Given the description of an element on the screen output the (x, y) to click on. 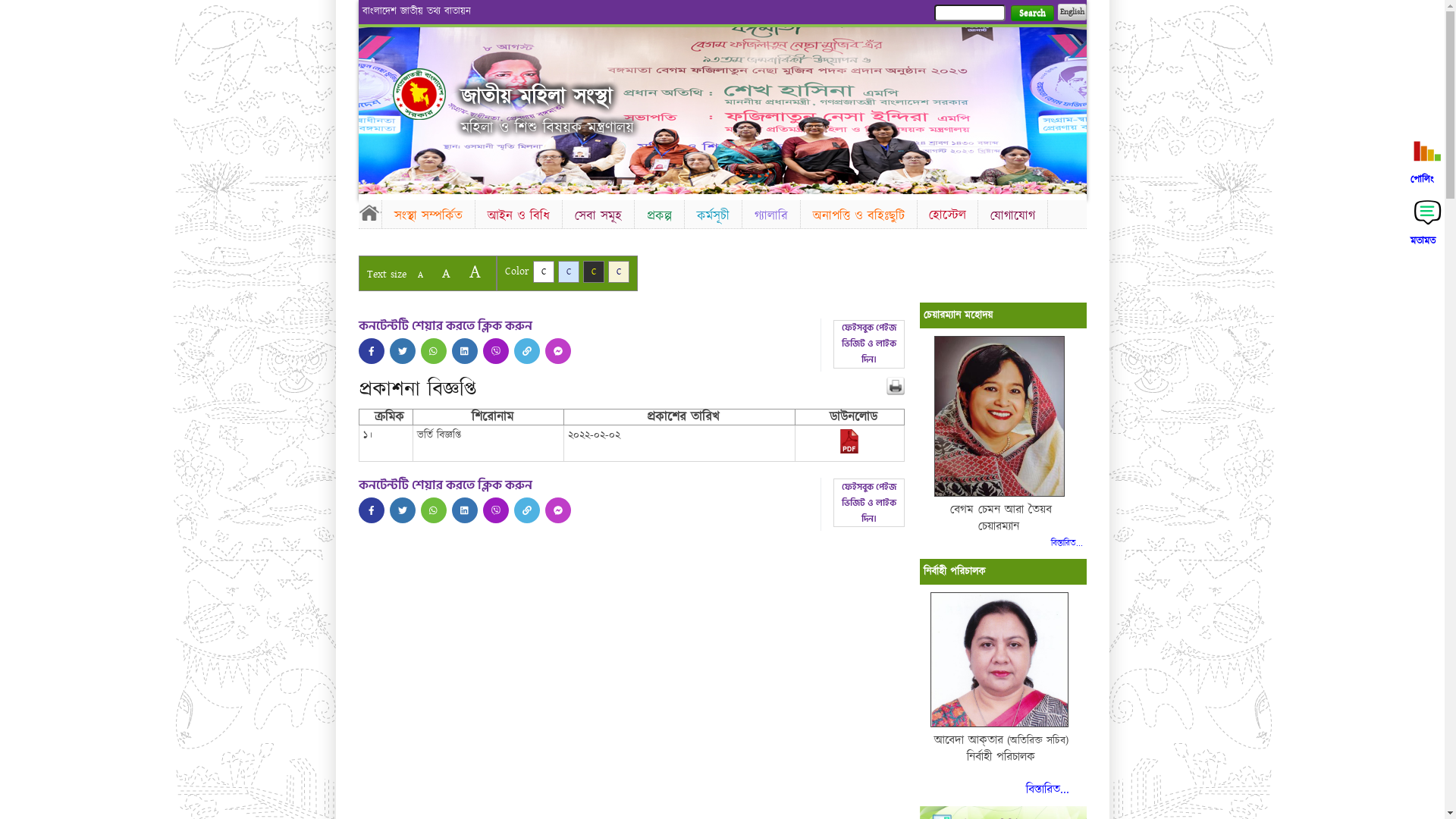
C Element type: text (618, 271)
C Element type: text (568, 271)
Home Element type: hover (418, 93)
C Element type: text (542, 271)
Home Element type: hover (368, 211)
A Element type: text (474, 271)
A Element type: text (445, 273)
A Element type: text (419, 274)
2022-02-08-11-14-c6dc33df17de783cff44c6feb566255a.pdf Element type: hover (849, 450)
Search Element type: text (1031, 13)
C Element type: text (592, 271)
English Element type: text (1071, 11)
